Given the description of an element on the screen output the (x, y) to click on. 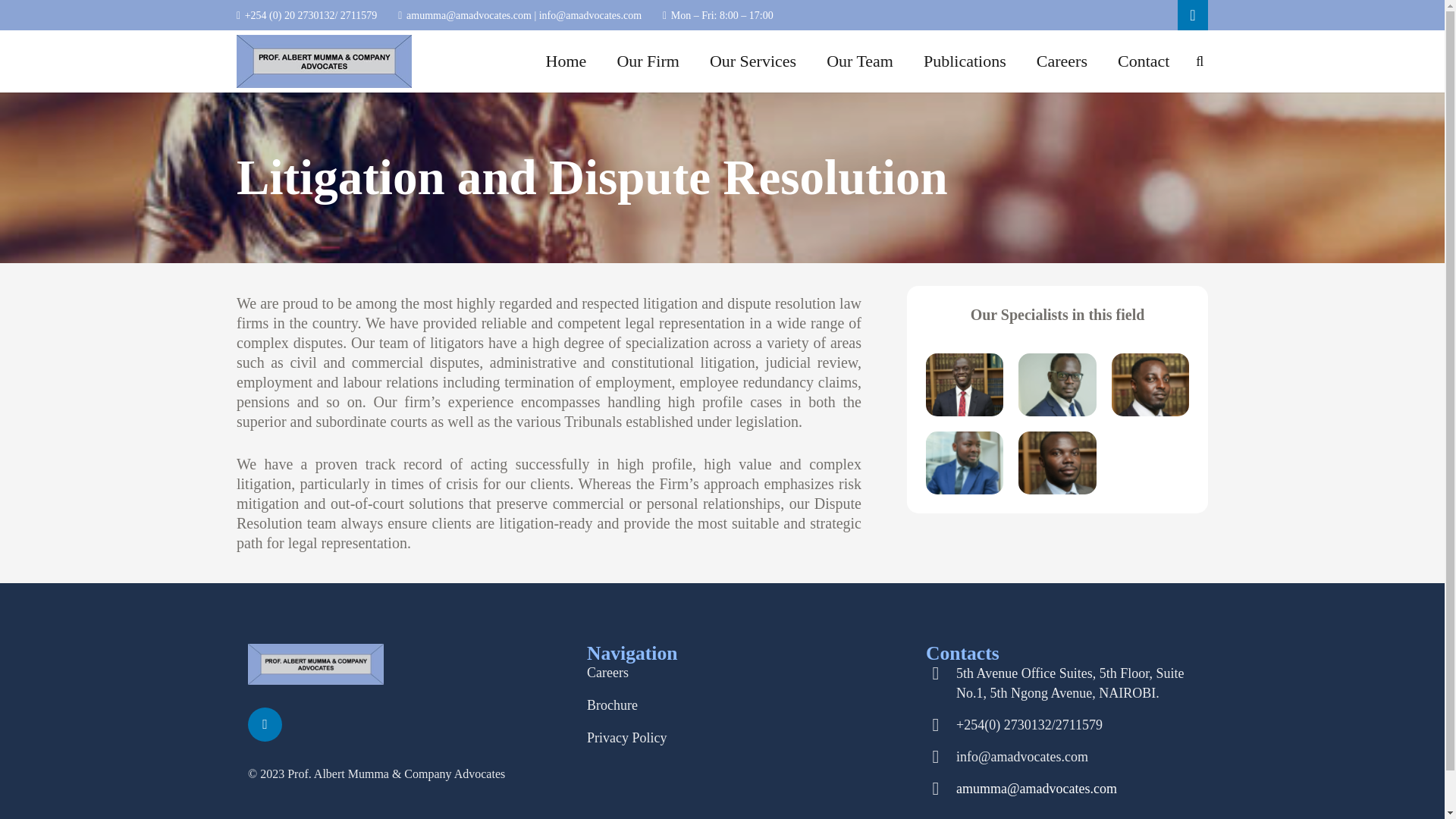
Our Services (752, 61)
Contact (1143, 61)
LinkedIn (1192, 15)
Careers (1062, 61)
Privacy Policy (626, 737)
Our Team (859, 61)
LinkedIn (264, 724)
Our Firm (647, 61)
Home (566, 61)
Publications (965, 61)
Careers (607, 672)
Brochure (611, 704)
